Given the description of an element on the screen output the (x, y) to click on. 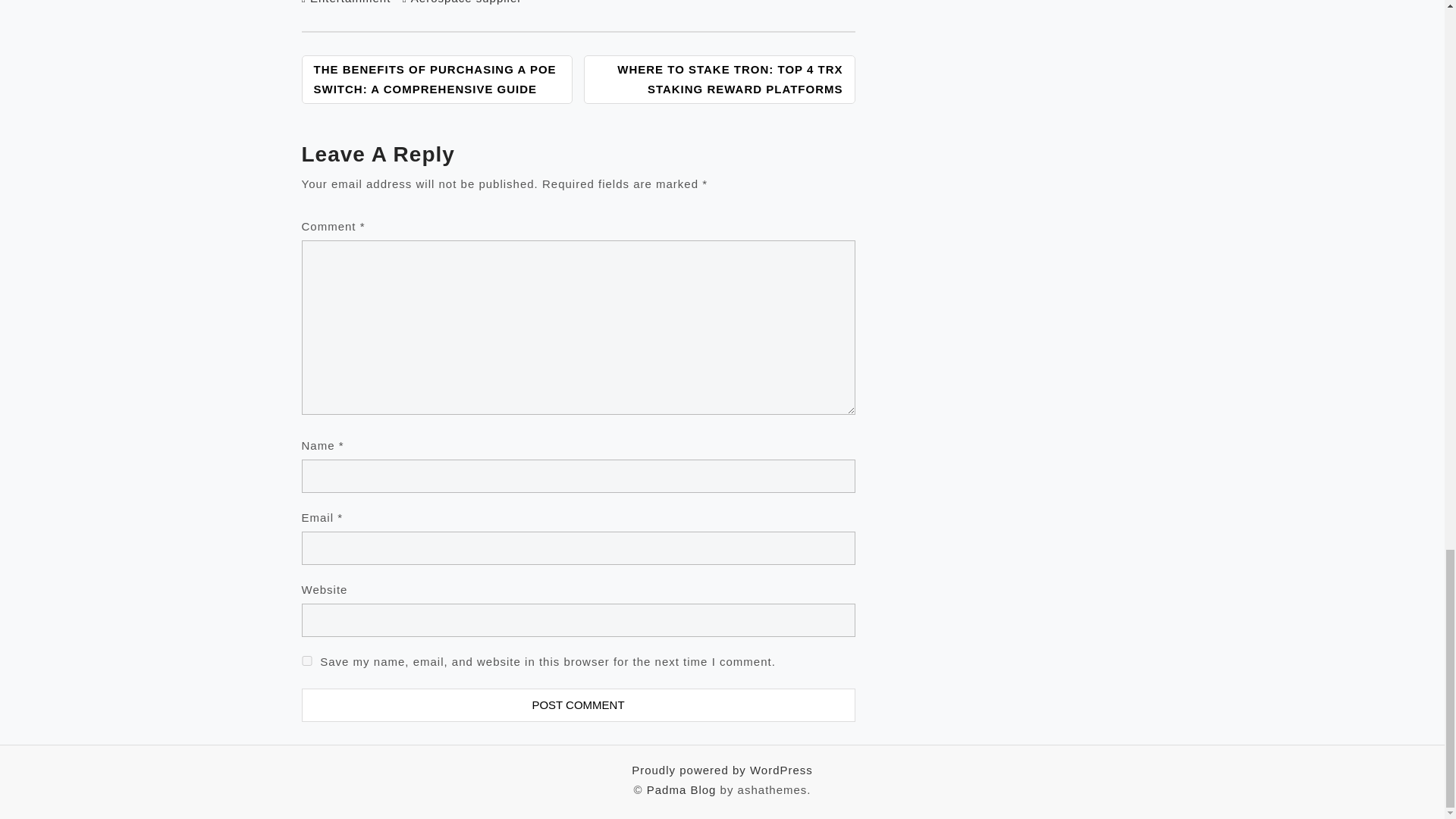
Padma Blog (681, 789)
WHERE TO STAKE TRON: TOP 4 TRX STAKING REWARD PLATFORMS (719, 79)
Post Comment (578, 704)
yes (307, 660)
Post Comment (578, 704)
Entertainment (350, 2)
Proudly powered by WordPress (721, 769)
Aerospace supplier (465, 2)
